Given the description of an element on the screen output the (x, y) to click on. 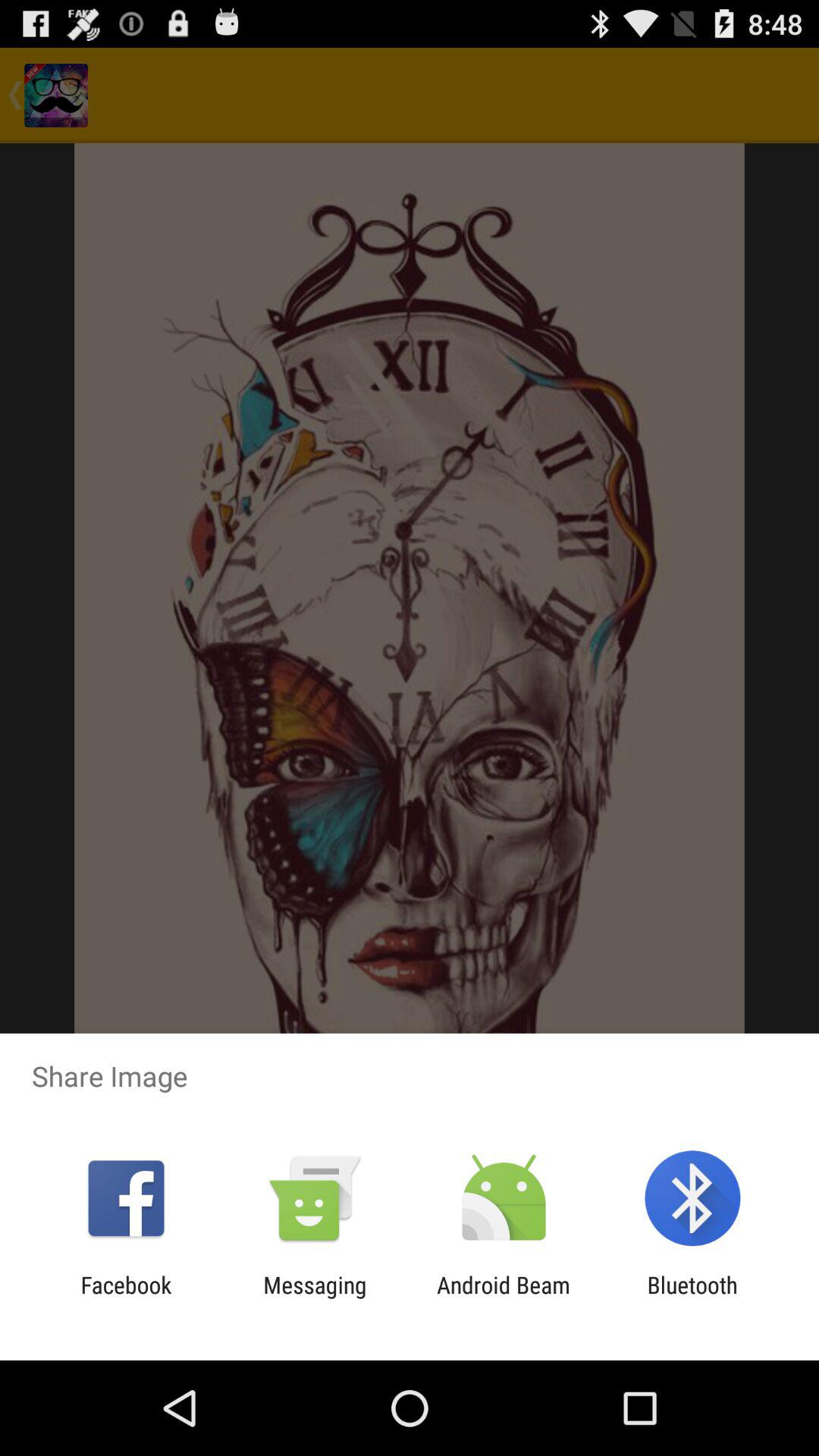
select the app to the right of facebook (314, 1298)
